Given the description of an element on the screen output the (x, y) to click on. 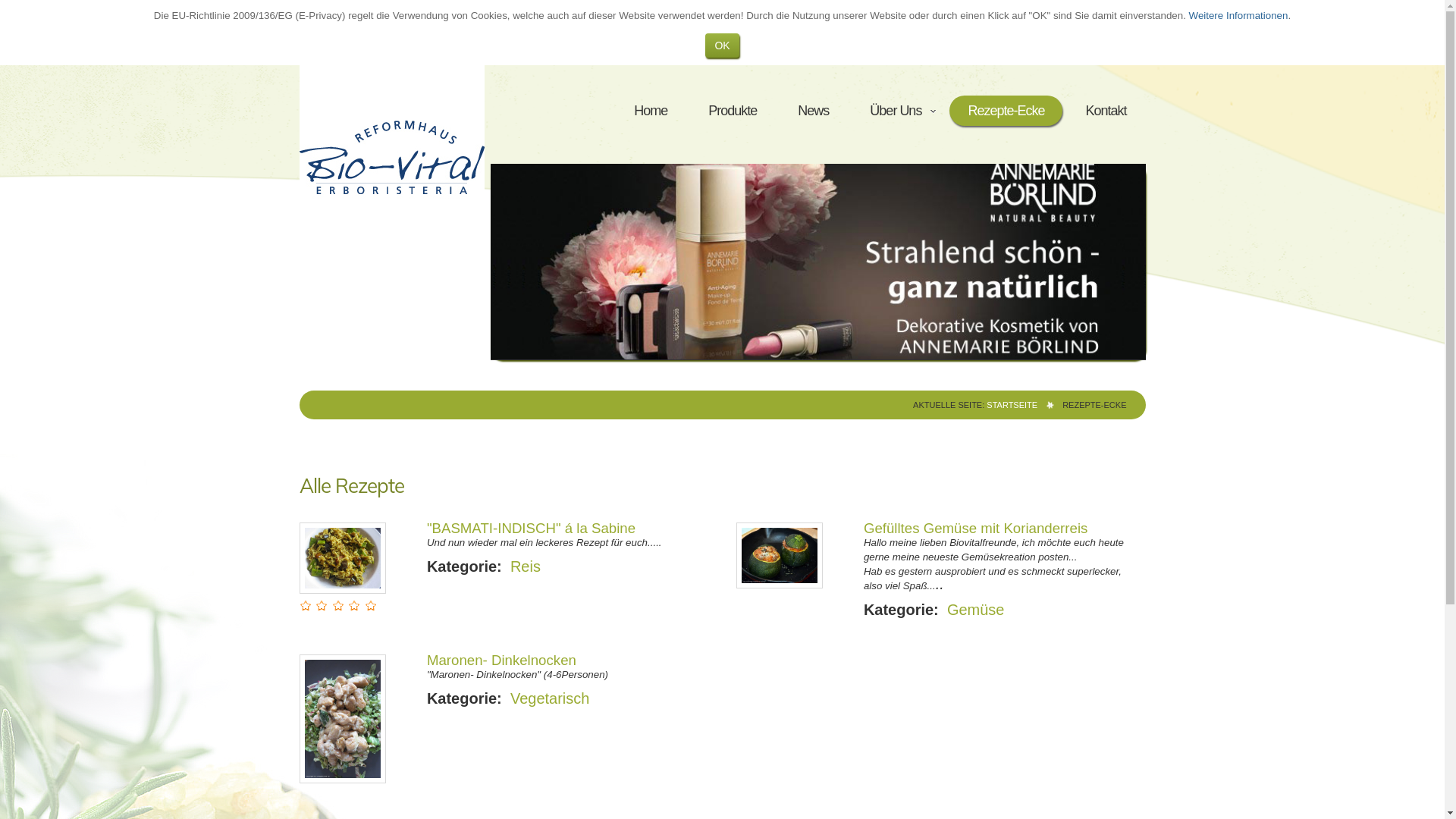
STARTSEITE Element type: text (1011, 404)
OK Element type: text (721, 45)
Home Element type: text (650, 110)
Maronen- Dinkelnocken Element type: text (501, 660)
Produkte Element type: text (732, 110)
Kontakt Element type: text (1105, 110)
Weitere Informationen Element type: text (1238, 15)
Vegetarisch Element type: text (549, 698)
Reis Element type: text (525, 566)
Maronen- Dinkelnocken Element type: hover (341, 719)
News Element type: text (812, 110)
Rezepte-Ecke Element type: text (1005, 110)
